Given the description of an element on the screen output the (x, y) to click on. 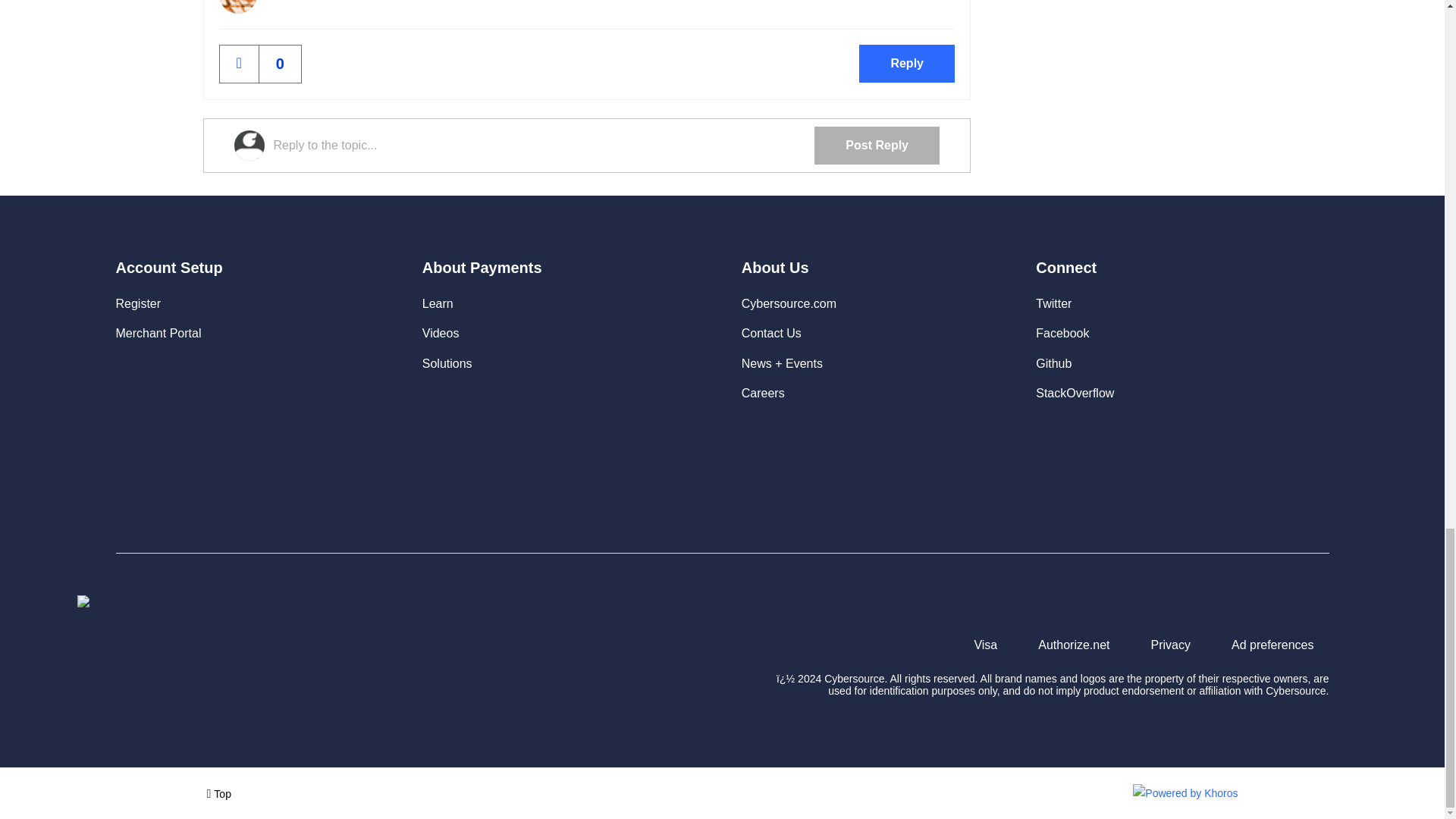
Administrator (300, 2)
RichardH (237, 6)
